Given the description of an element on the screen output the (x, y) to click on. 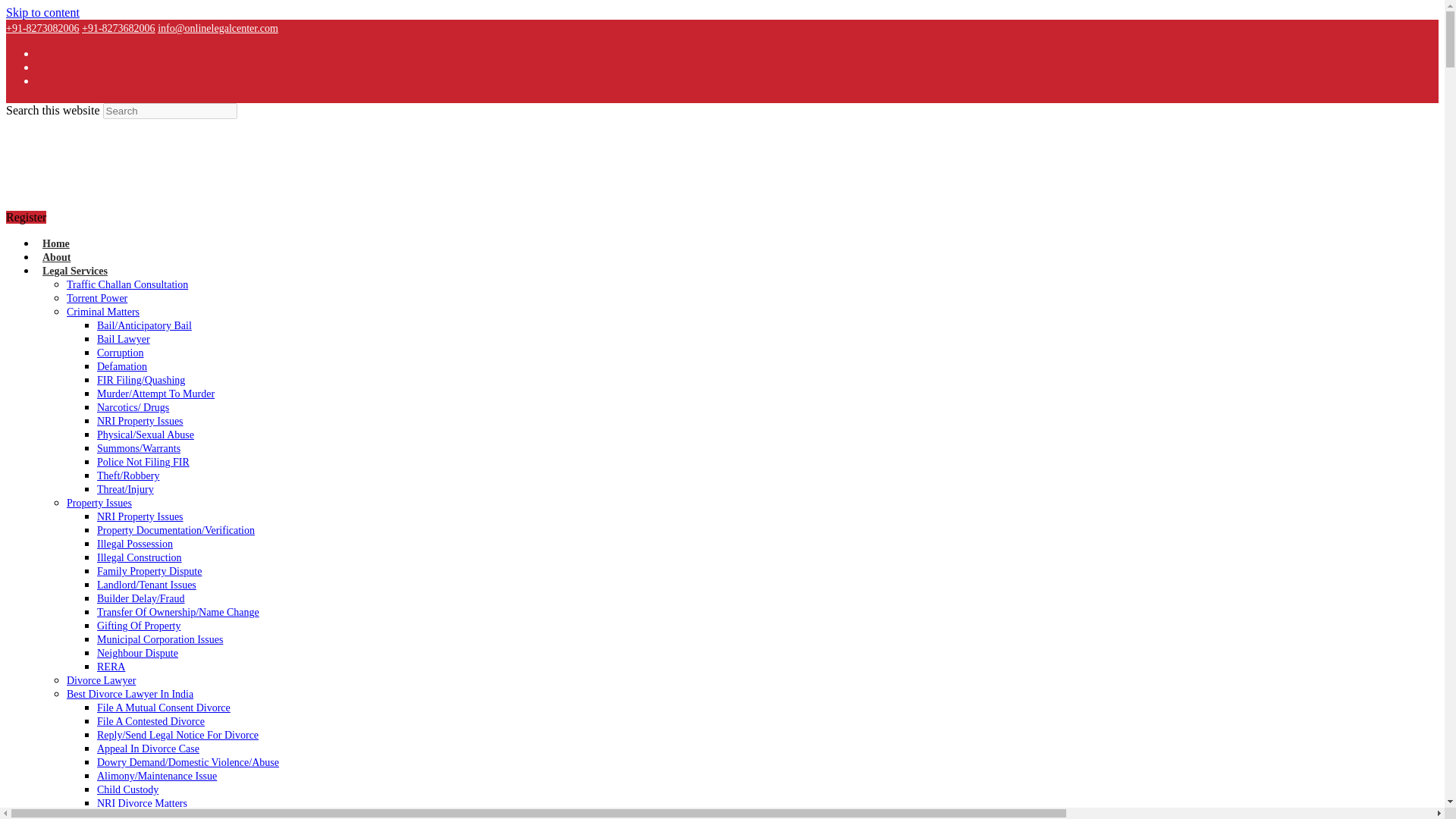
Corruption (119, 352)
Gifting Of Property (138, 625)
Register (25, 216)
Criminal Matters (102, 311)
About (56, 256)
Traffic Challan Consultation (126, 284)
Defamation (122, 366)
Home (55, 243)
Illegal Possession (135, 543)
Bail Lawyer (123, 338)
Skip to content (42, 11)
Torrent Power (97, 297)
Family Property Dispute (149, 571)
Property Issues (99, 502)
Illegal Construction (139, 557)
